Given the description of an element on the screen output the (x, y) to click on. 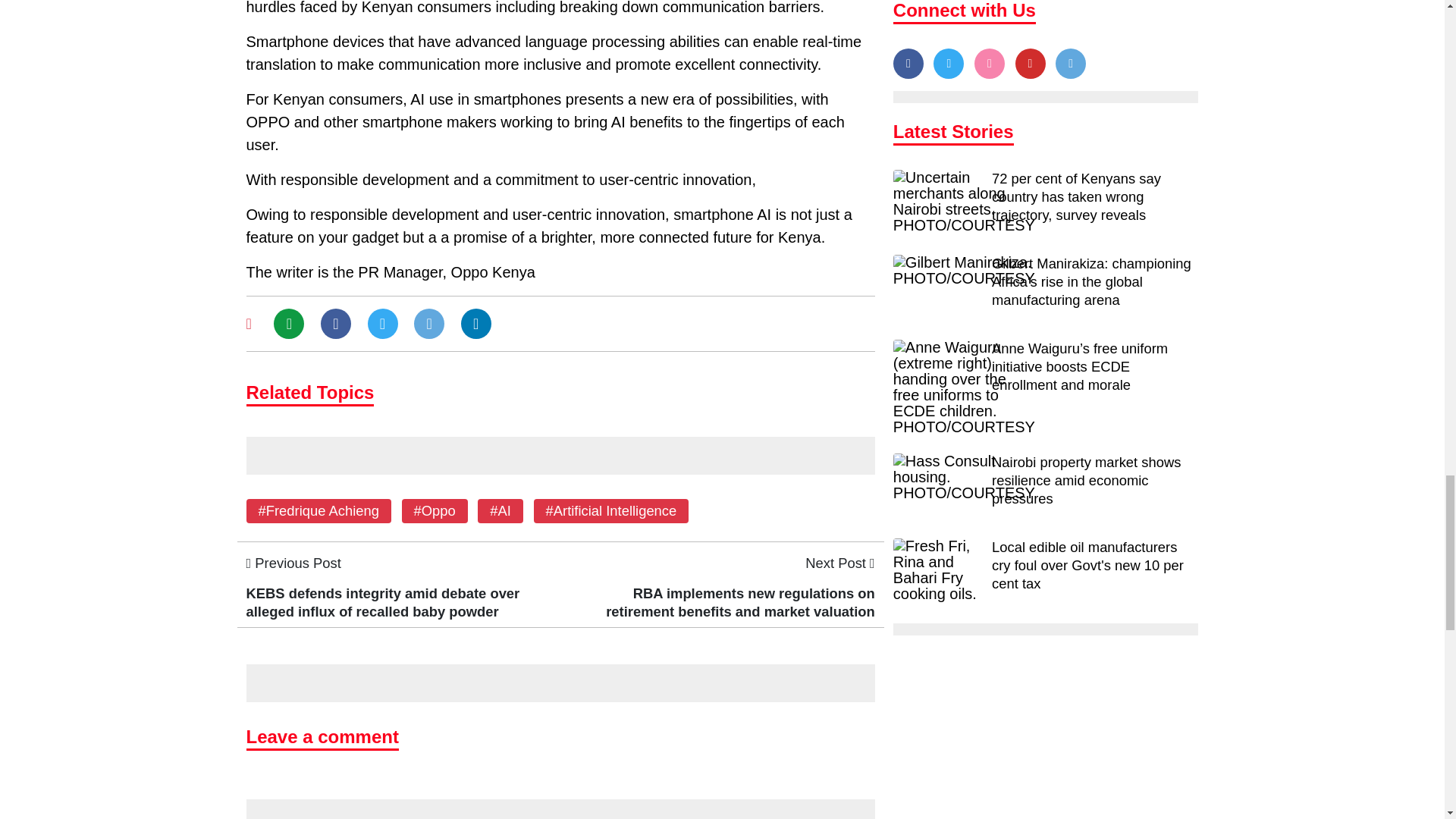
Topic: Fredrique Achieng (317, 510)
Topic: AI (500, 510)
Topic: Oppo  (434, 510)
Share via Linked (476, 323)
Share via Twitter (381, 323)
Share via Whatsapp (288, 323)
Topic: Artificial Intelligence (611, 510)
Share via Facebook (335, 323)
Share via Telegram (428, 323)
